Given the description of an element on the screen output the (x, y) to click on. 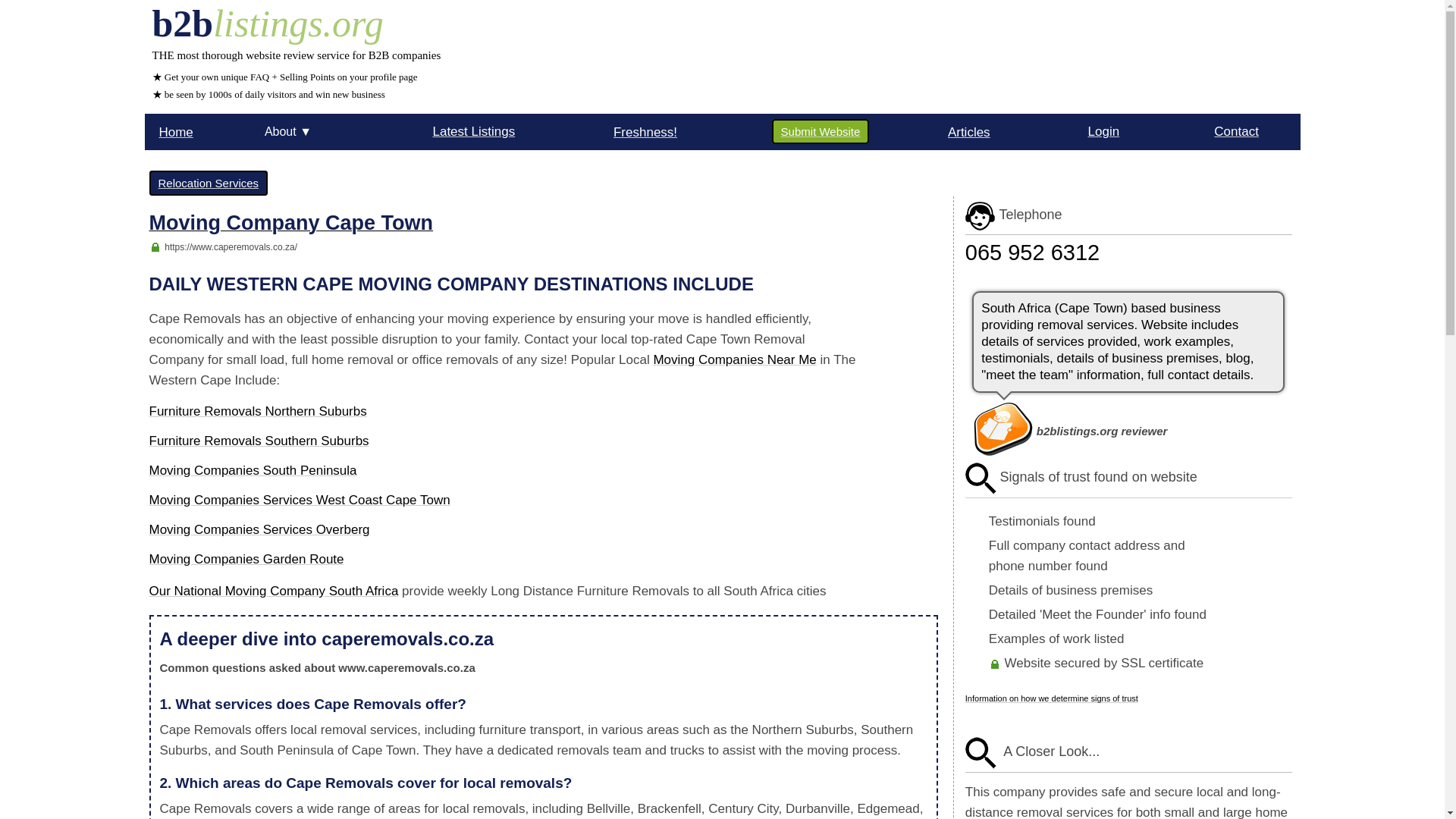
Freshness! (644, 131)
Contact (1236, 131)
Furniture Removals Southern Suburbs (258, 440)
Moving Companies Services West Coast Cape Town (298, 499)
Moving Company Cape Town (290, 225)
Moving Company South Africa (311, 590)
Furniture Removals Northern Suburbs (257, 411)
Our National (186, 590)
Submit Website (820, 131)
Latest Listings (473, 131)
Information on how we determine signs of trust (1051, 697)
Moving Companies Garden Route (245, 559)
Login (1103, 131)
Articles (968, 131)
Home (175, 131)
